Given the description of an element on the screen output the (x, y) to click on. 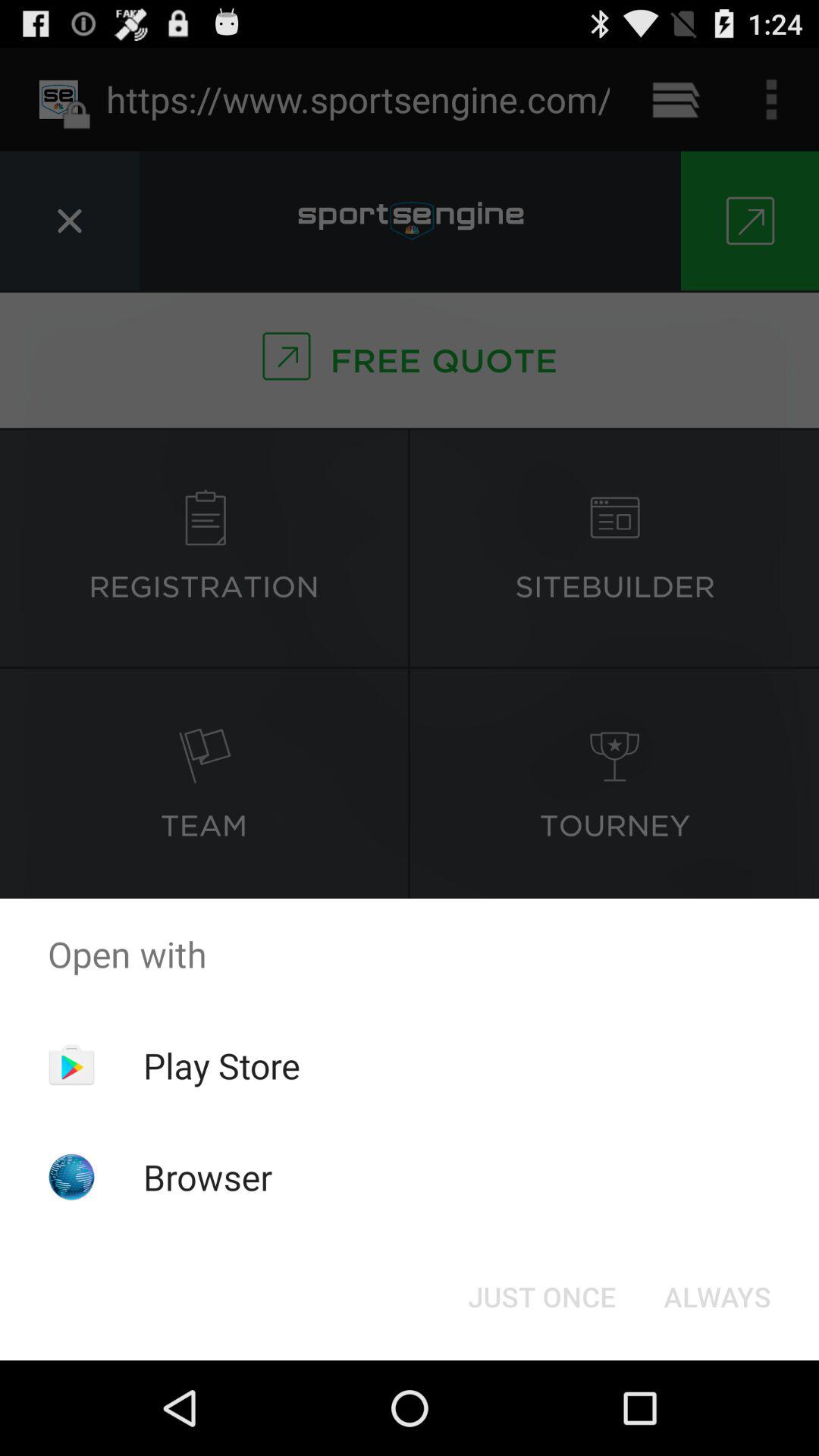
tap icon at the bottom right corner (717, 1296)
